Given the description of an element on the screen output the (x, y) to click on. 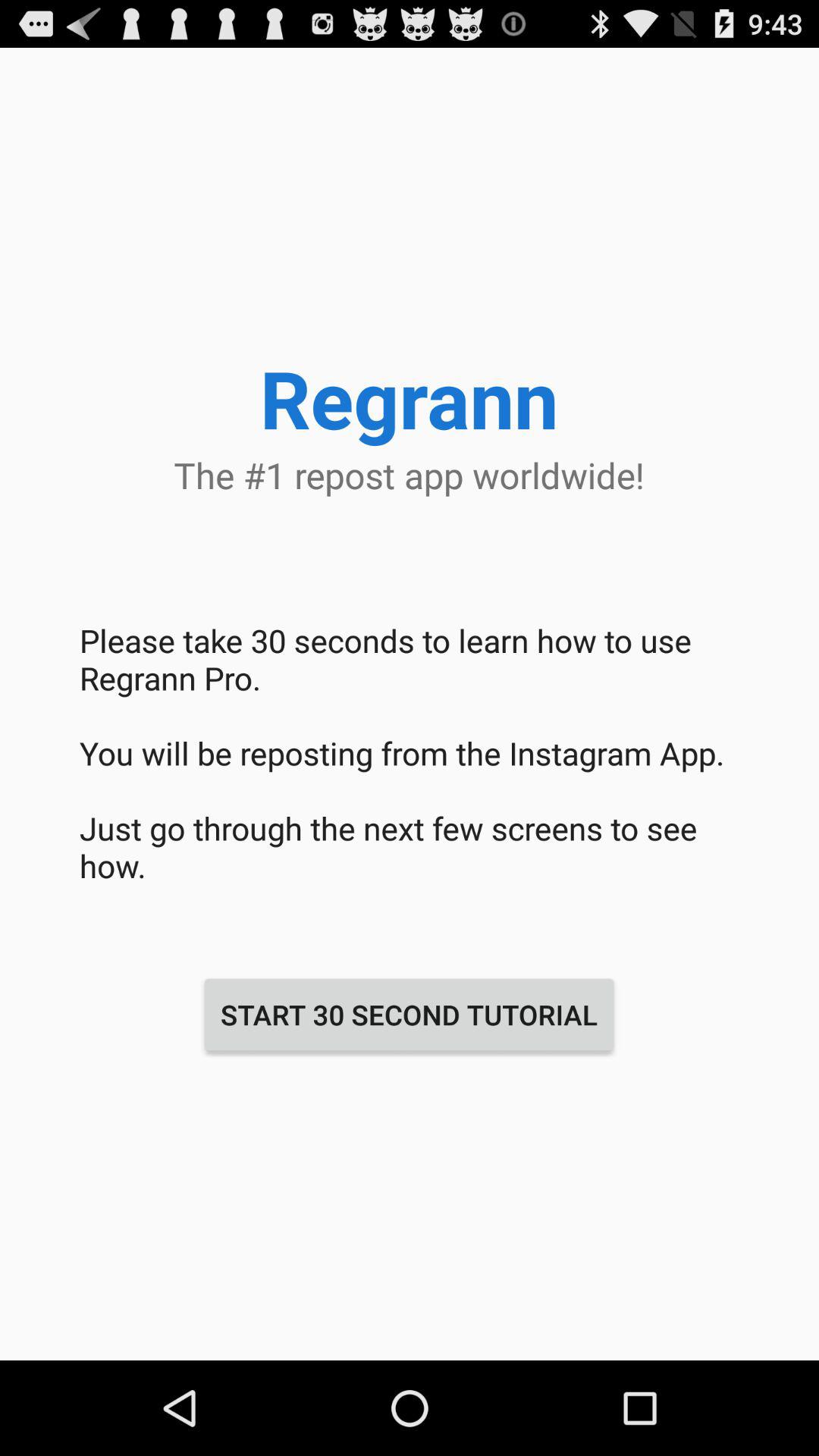
swipe until the start 30 second (408, 1014)
